Given the description of an element on the screen output the (x, y) to click on. 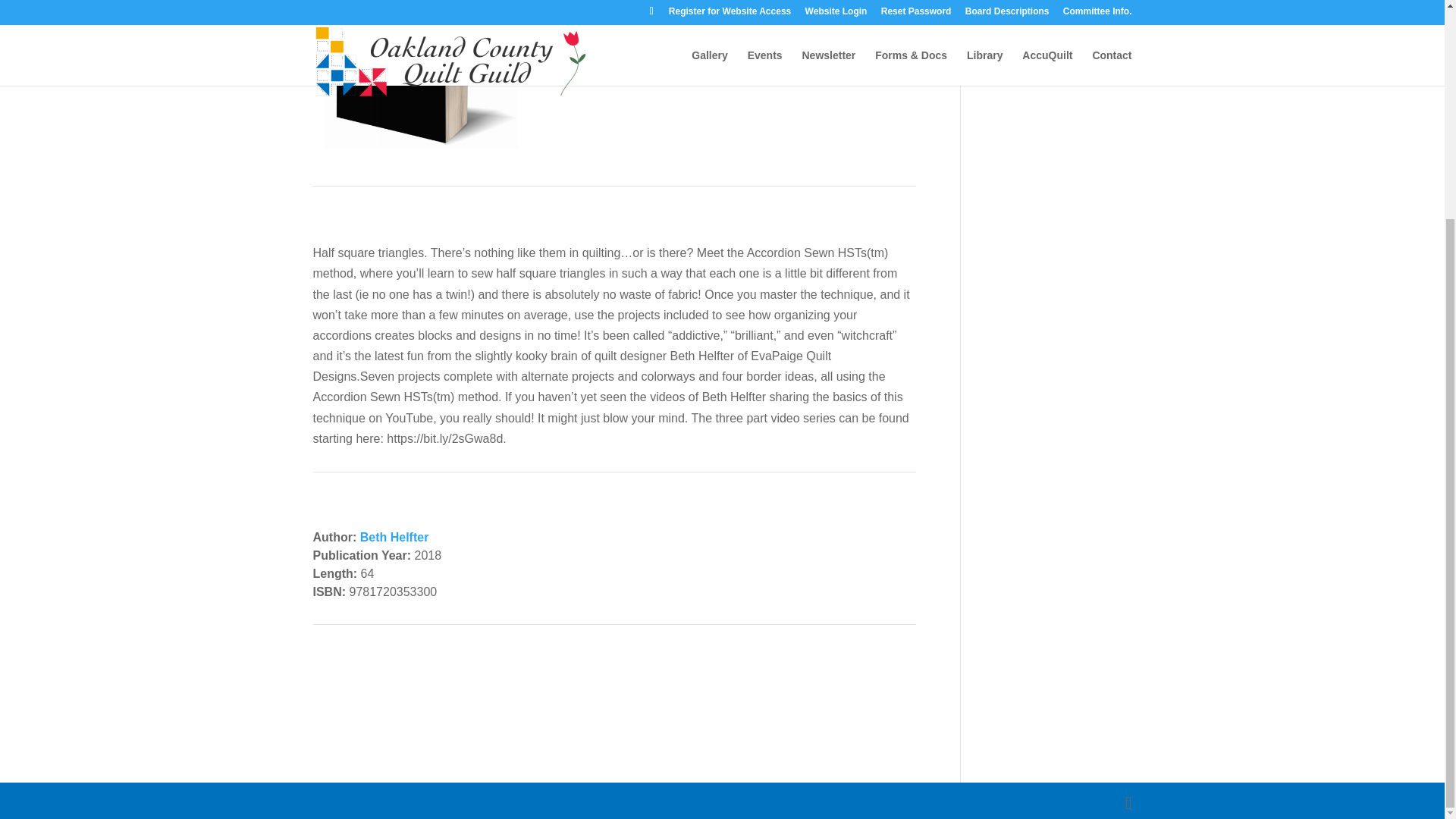
Beth Helfter (394, 536)
